Given the description of an element on the screen output the (x, y) to click on. 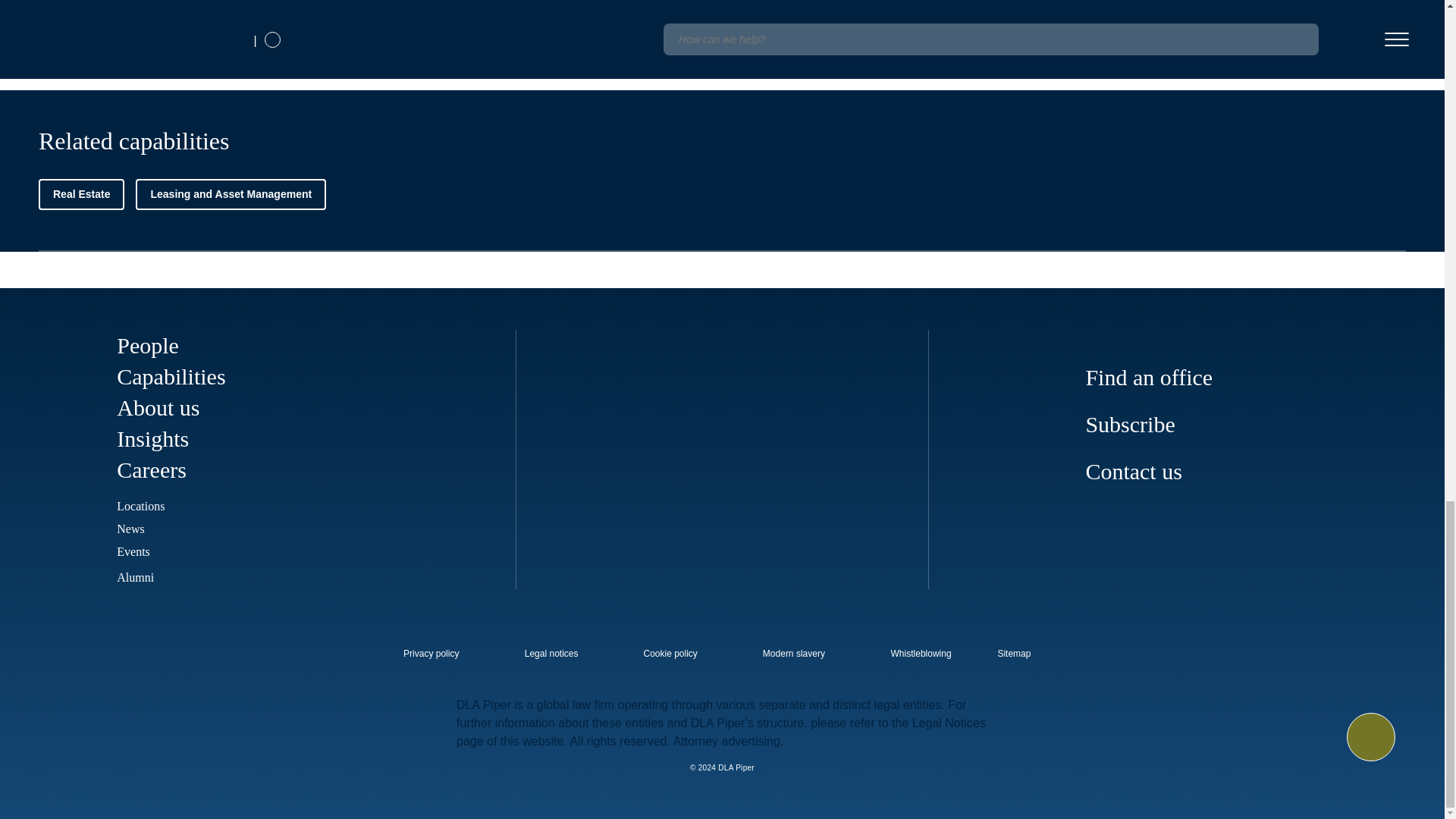
internal (670, 653)
Events (132, 551)
Leasing and Asset Management (230, 194)
internal (920, 653)
Careers (162, 469)
Alumni (146, 576)
Insights (152, 438)
News (130, 528)
external (1024, 649)
internal (793, 653)
